Given the description of an element on the screen output the (x, y) to click on. 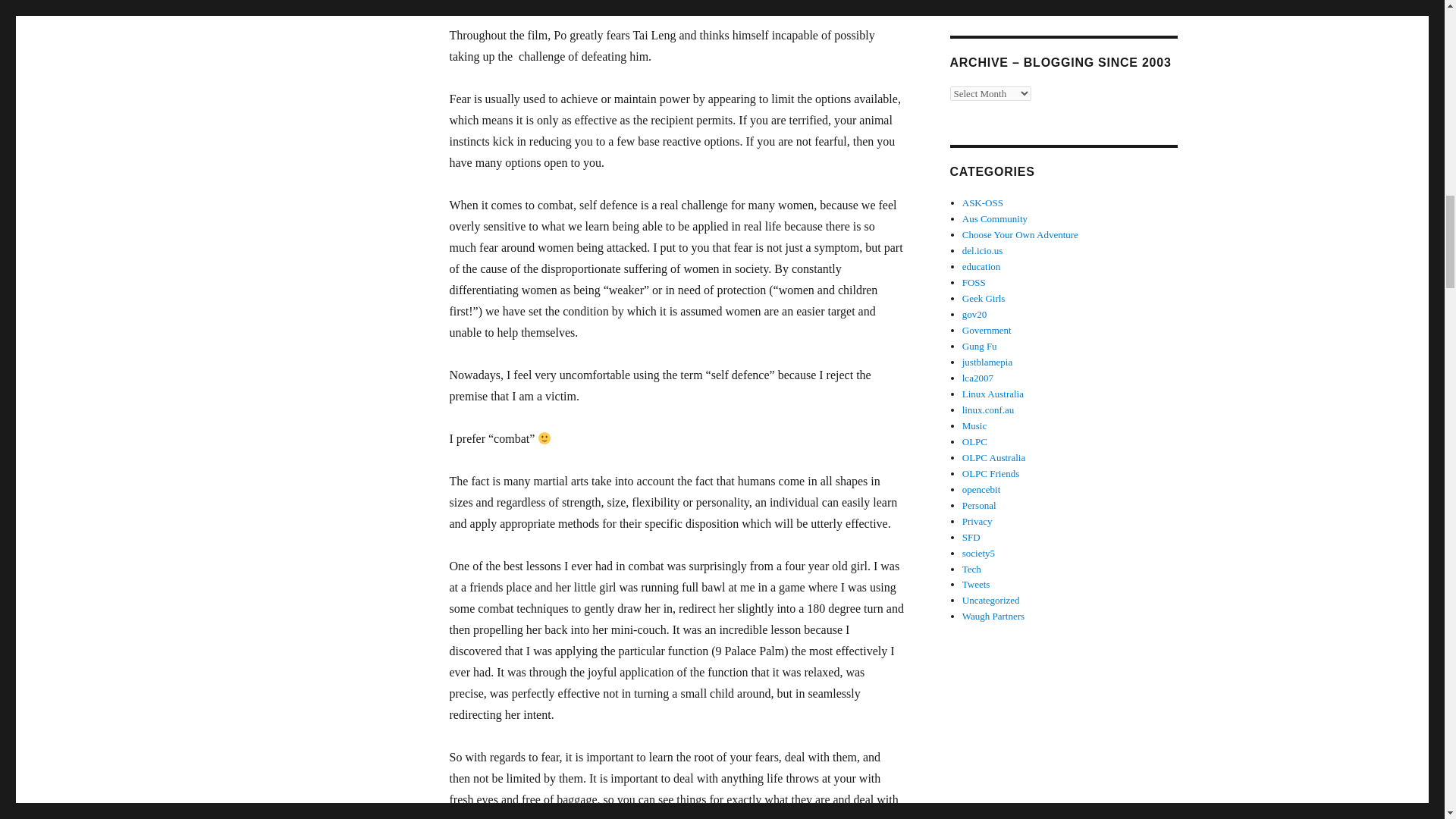
linux.conf.au 2007 - Sydney, Australia (977, 378)
